Given the description of an element on the screen output the (x, y) to click on. 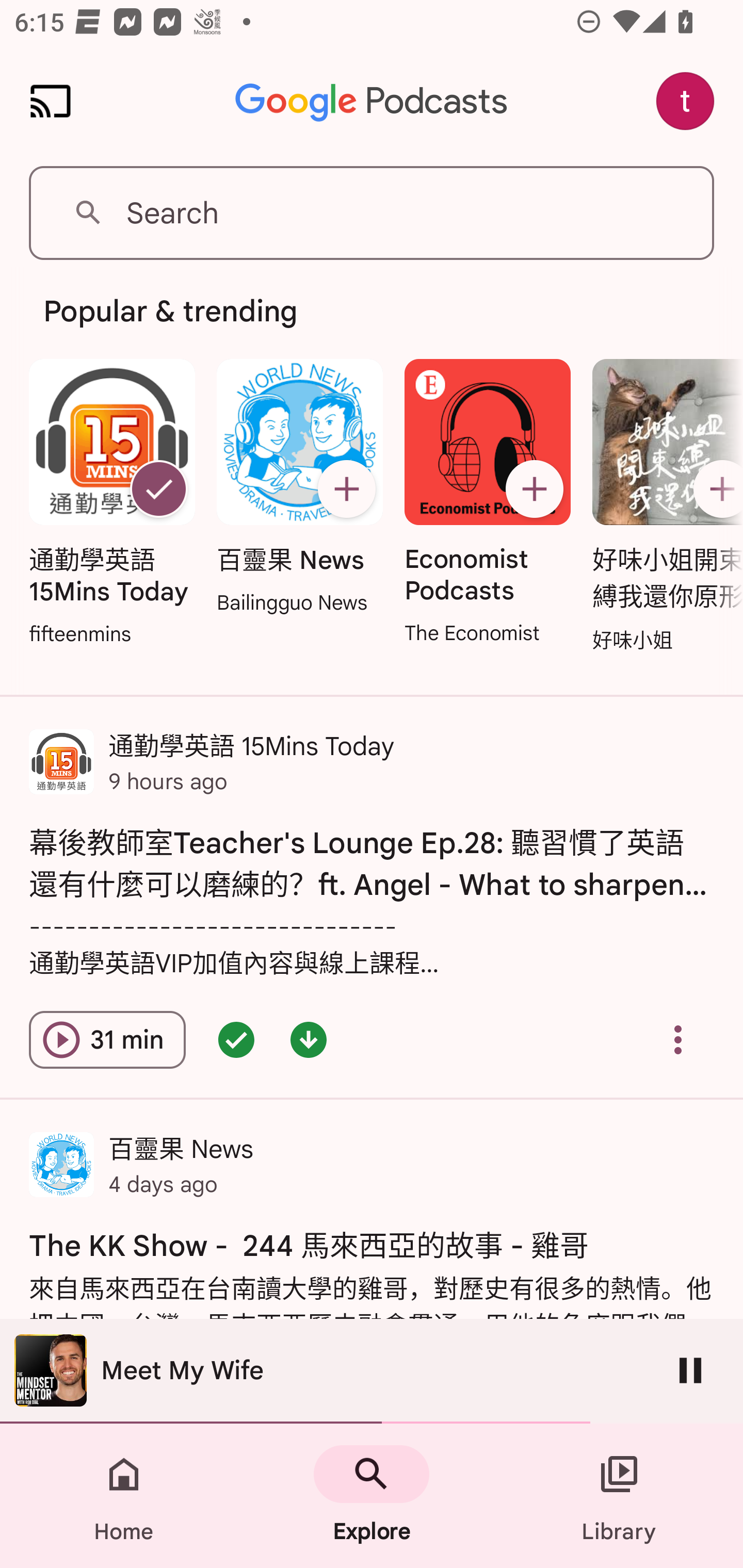
Cast. Disconnected (50, 101)
Search (371, 212)
百靈果 News Subscribe 百靈果 News Bailingguo News (299, 488)
好味小姐開束縛我還你原形 Subscribe 好味小姐開束縛我還你原形 好味小姐 (662, 507)
Unsubscribe (158, 489)
Subscribe (346, 489)
Subscribe (534, 489)
Subscribe (714, 489)
Episode queued - double tap for options (235, 1040)
Episode downloaded - double tap for options (308, 1040)
Overflow menu (677, 1040)
The Mindset Mentor Meet My Wife Pause 5137.0 (371, 1370)
Pause (690, 1370)
Home (123, 1495)
Library (619, 1495)
